Given the description of an element on the screen output the (x, y) to click on. 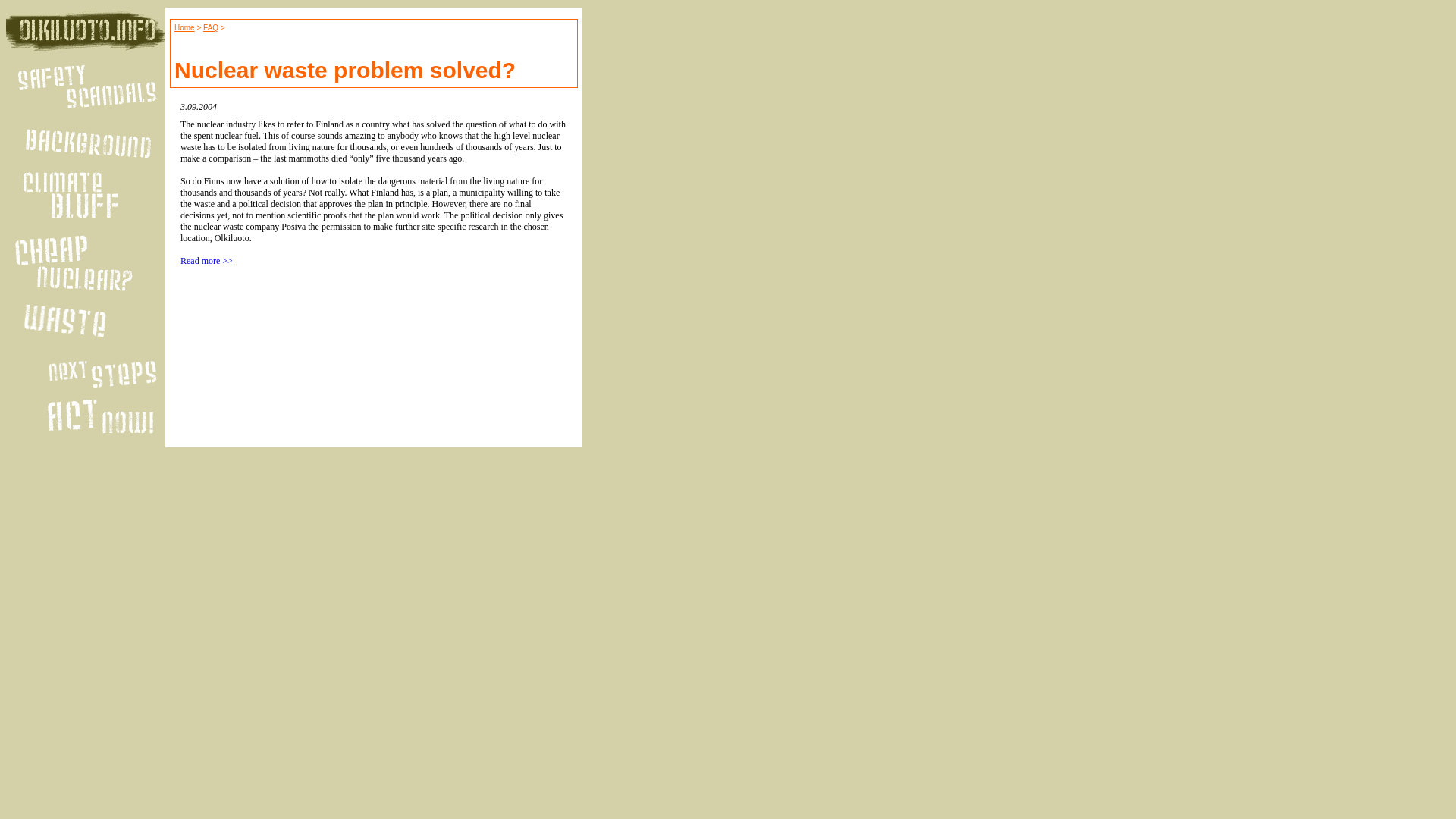
FAQ (210, 27)
Home (184, 27)
